Given the description of an element on the screen output the (x, y) to click on. 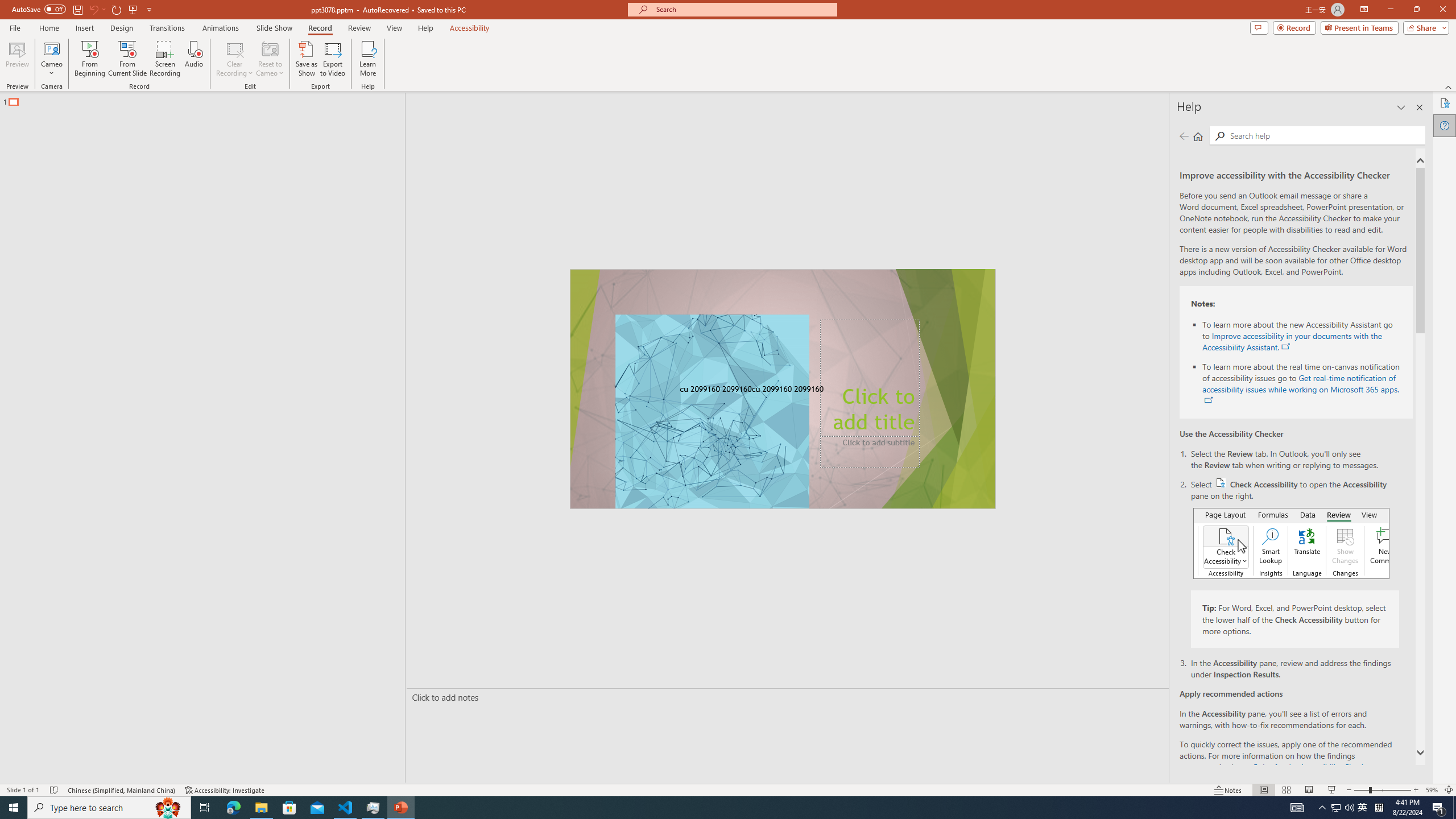
Subtitle TextBox (869, 451)
Clear Recording (234, 58)
